Given the description of an element on the screen output the (x, y) to click on. 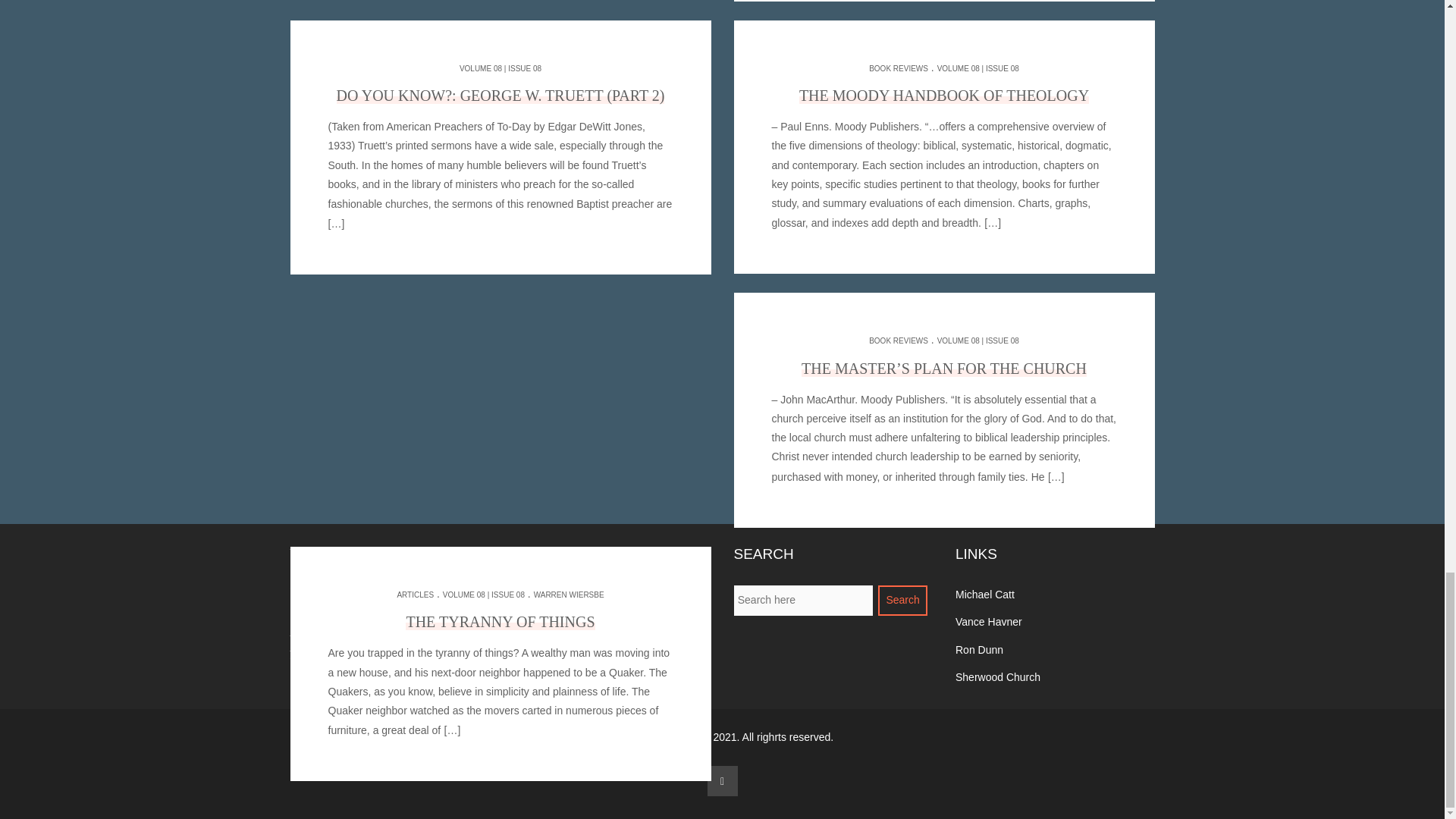
facebook (721, 780)
Read More (499, 233)
Read More (450, 729)
Read More (991, 222)
Search (902, 600)
Read More (1054, 476)
Search (902, 600)
